Given the description of an element on the screen output the (x, y) to click on. 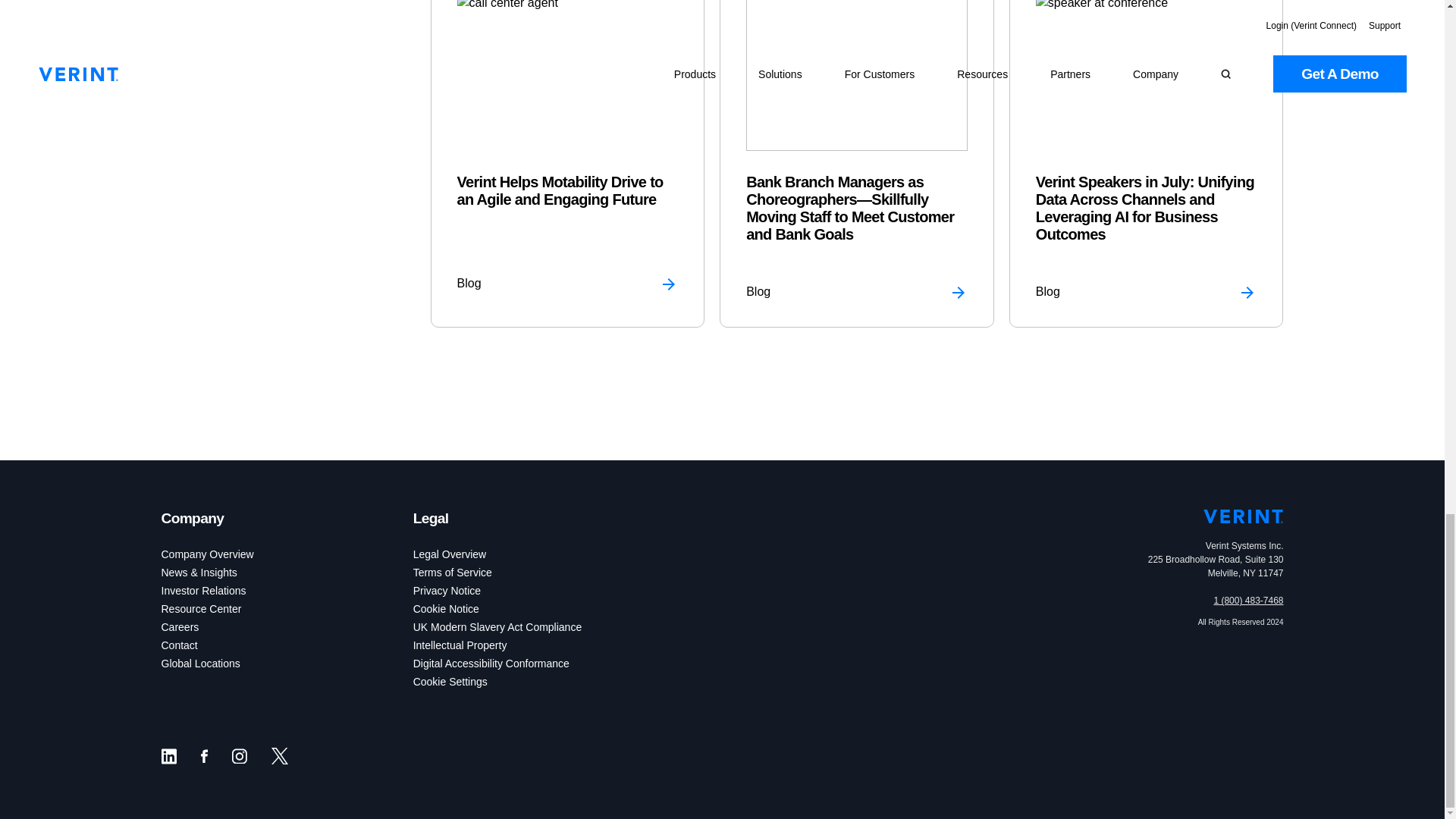
Verint Logo (1243, 516)
